Given the description of an element on the screen output the (x, y) to click on. 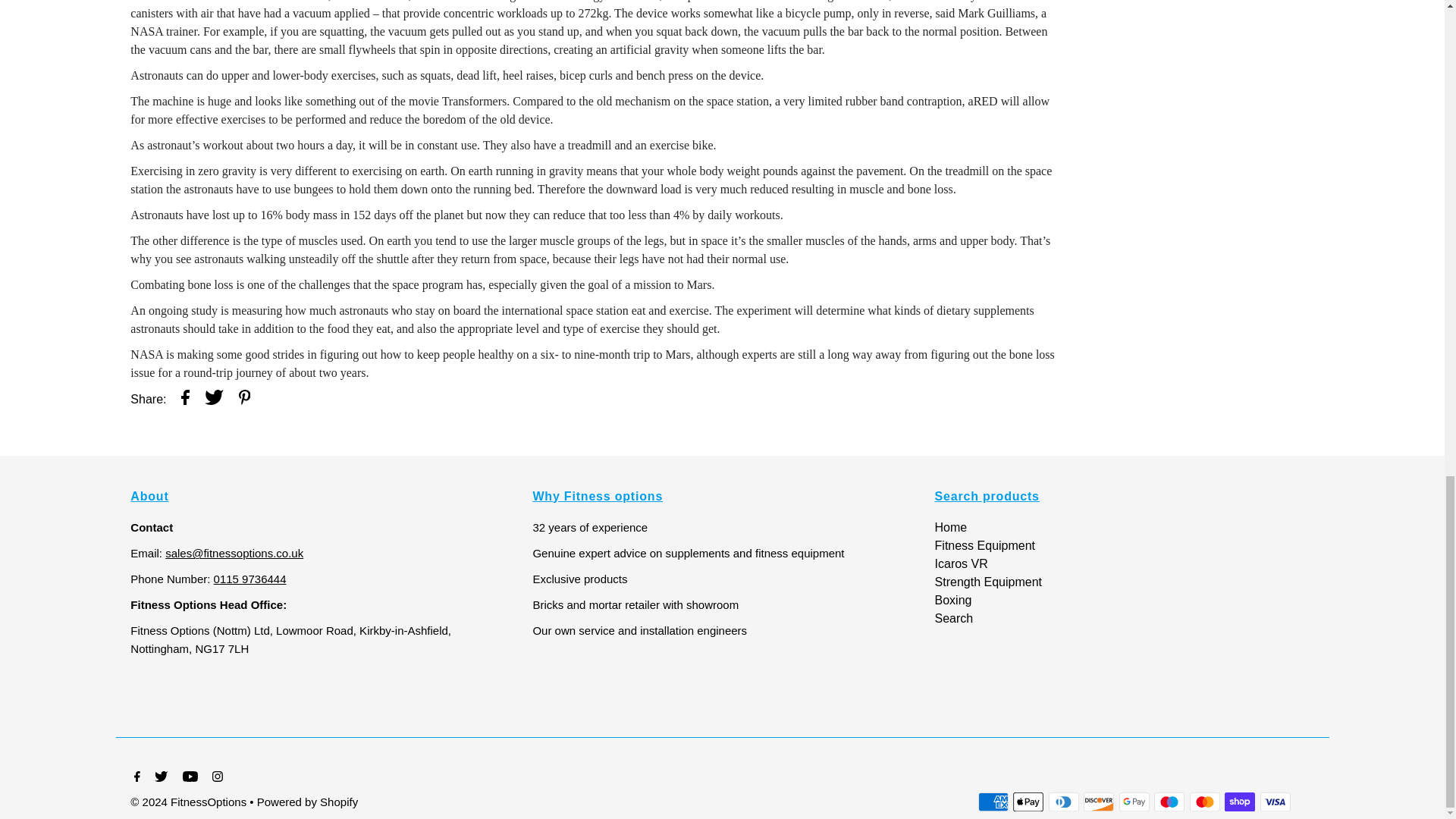
Share on Twitter (214, 399)
tel:01159736444 (250, 578)
American Express (993, 801)
